Given the description of an element on the screen output the (x, y) to click on. 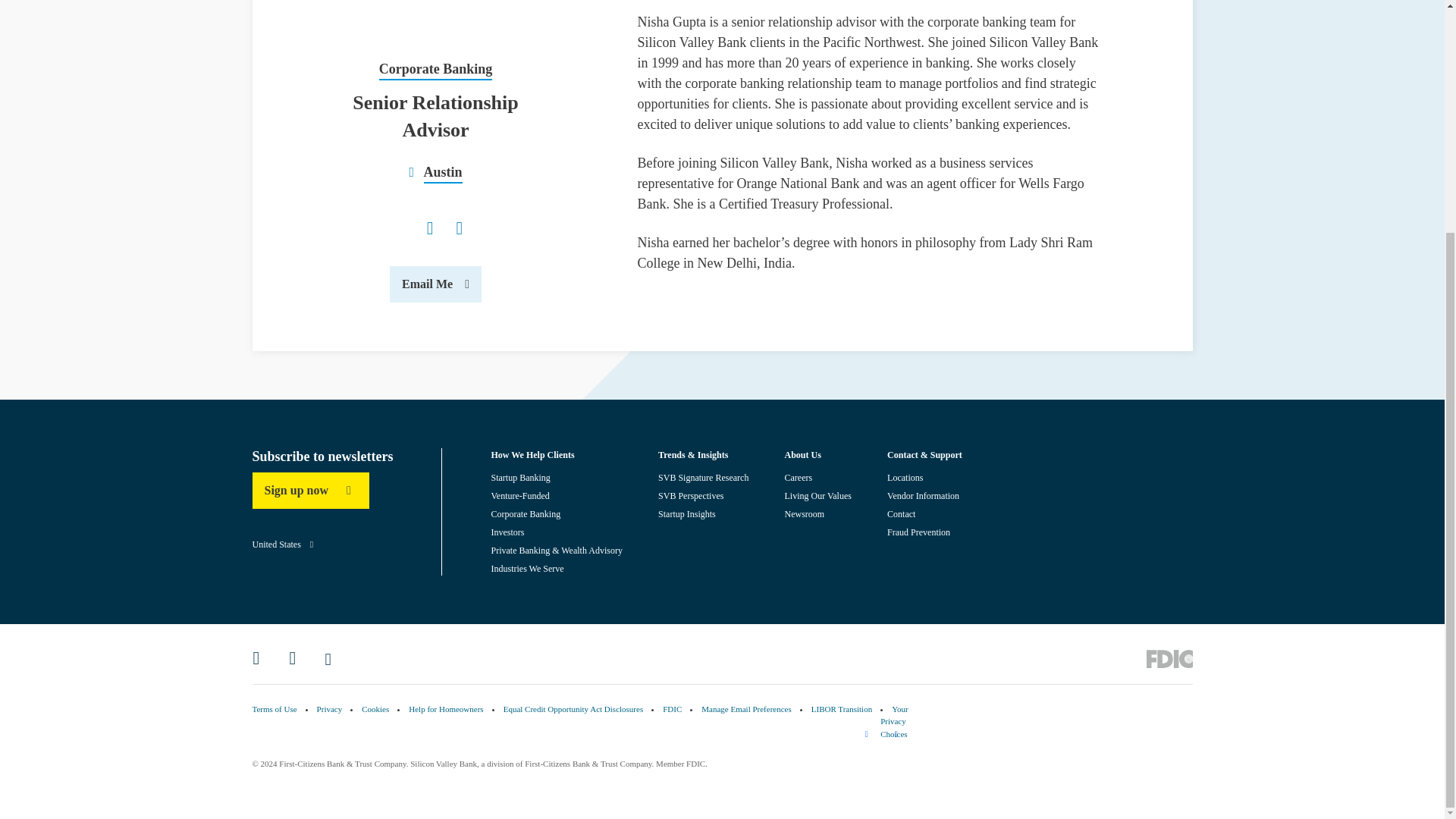
SVB on Twitter (297, 657)
SVB on YouTube (333, 657)
SVB on LinkedIn (261, 657)
